Given the description of an element on the screen output the (x, y) to click on. 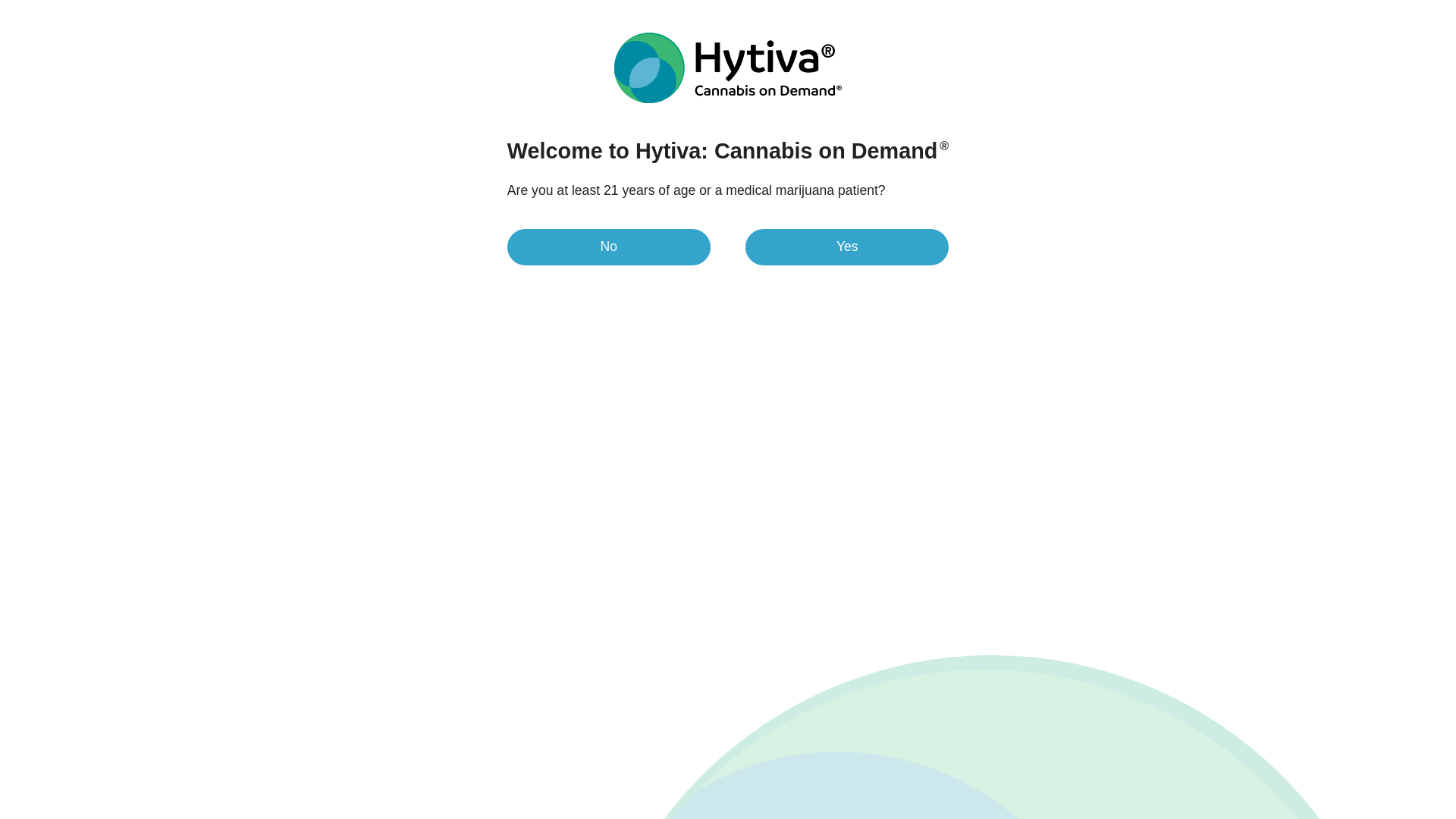
Account (1249, 55)
Language (1277, 10)
Language (1277, 10)
Search Strains, Dispensaries, Brands, and Articles (1023, 55)
Strains (378, 56)
About (639, 274)
Las Vegas, NV (1186, 10)
Business Services (1087, 9)
FAQs (791, 274)
Buy Lemon Joy Near You (1219, 214)
Lineage (716, 274)
Comments (876, 274)
Account (1249, 55)
Search (1205, 55)
Sweet (195, 749)
